Given the description of an element on the screen output the (x, y) to click on. 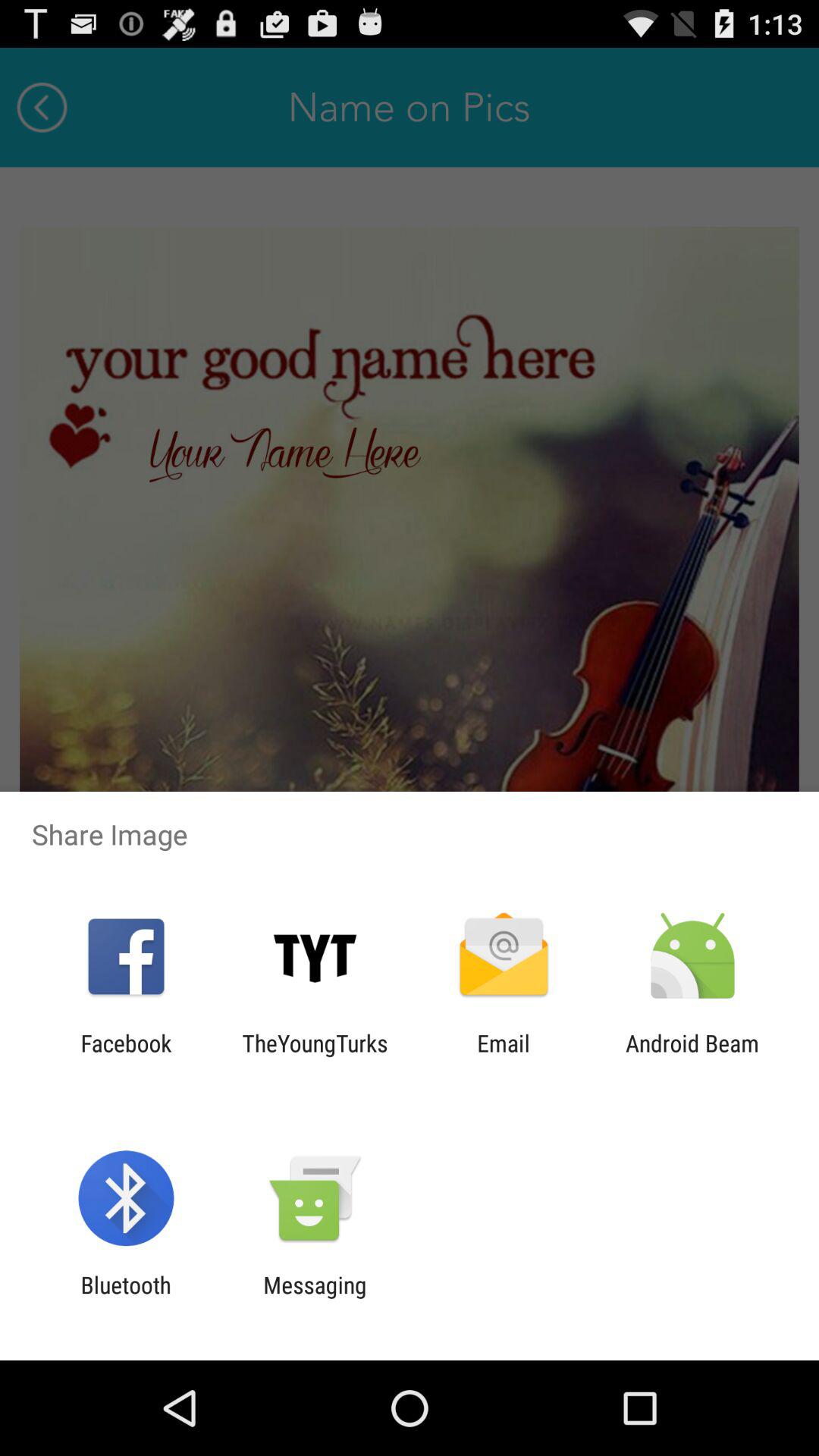
press icon next to the email (314, 1056)
